Given the description of an element on the screen output the (x, y) to click on. 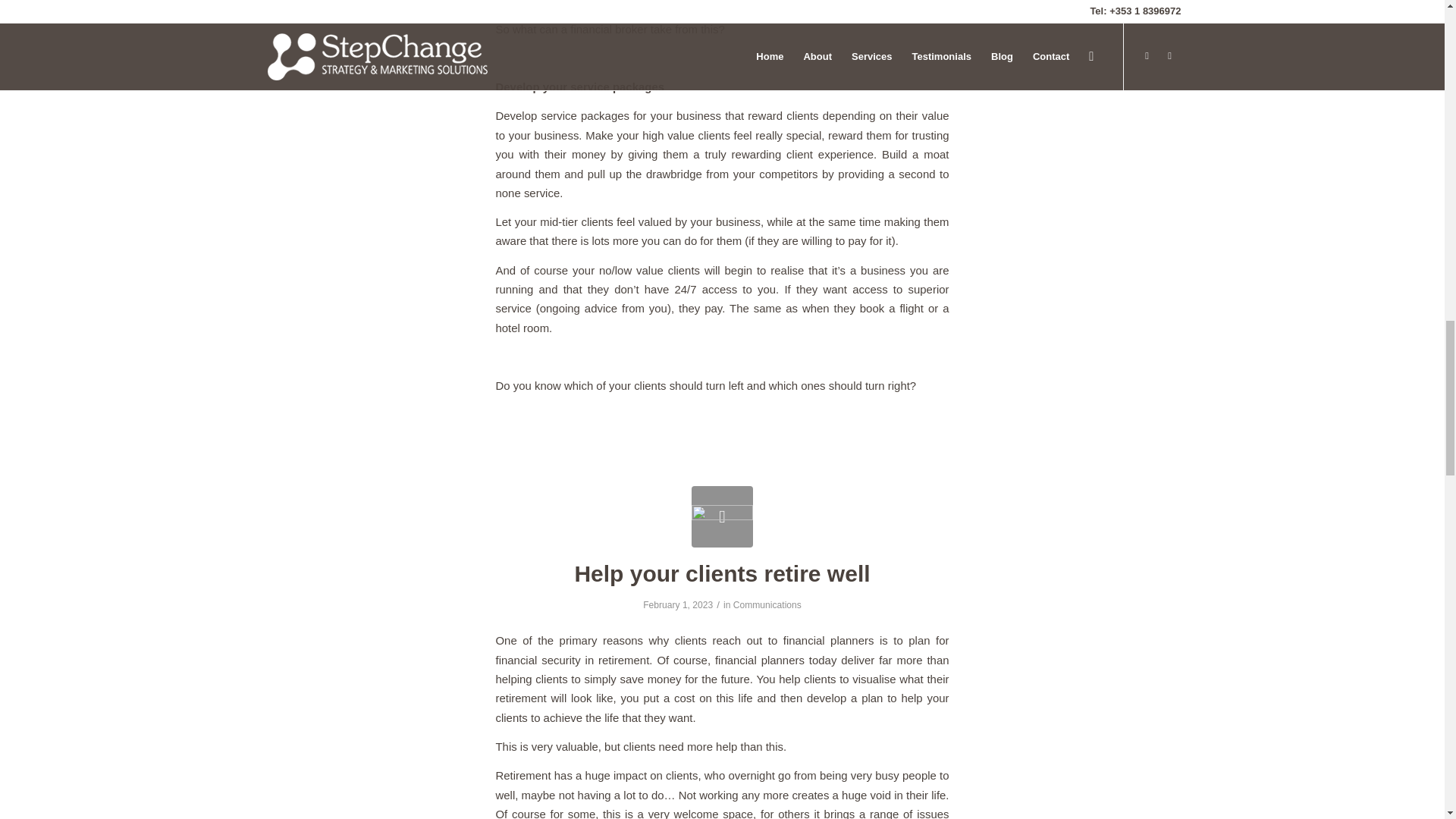
Communications (767, 604)
Permanent Link: Help your clients retire well (721, 573)
Help your clients retire well (721, 573)
Help your clients retire well (721, 516)
